Given the description of an element on the screen output the (x, y) to click on. 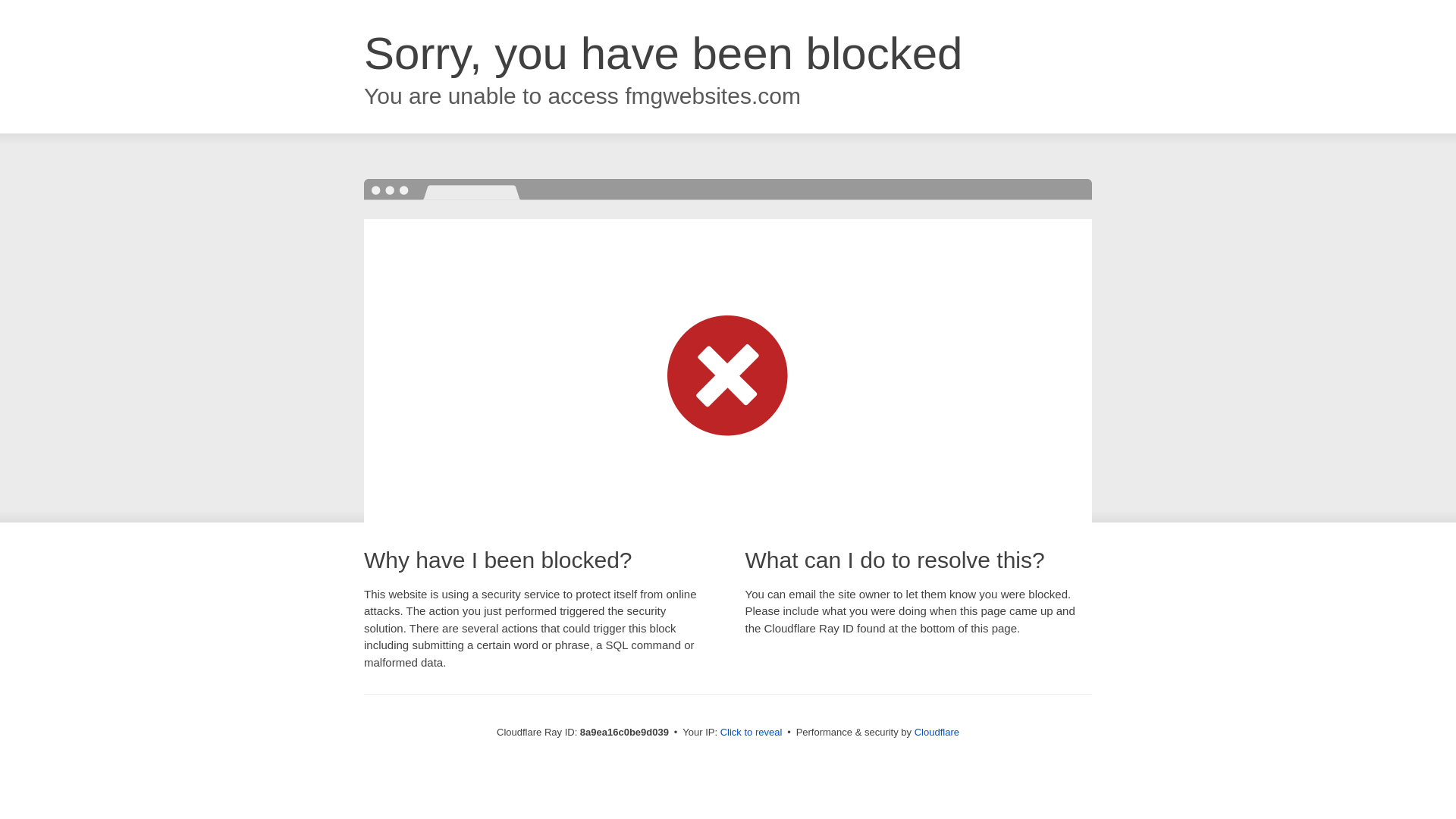
Click to reveal (751, 732)
Cloudflare (936, 731)
